Given the description of an element on the screen output the (x, y) to click on. 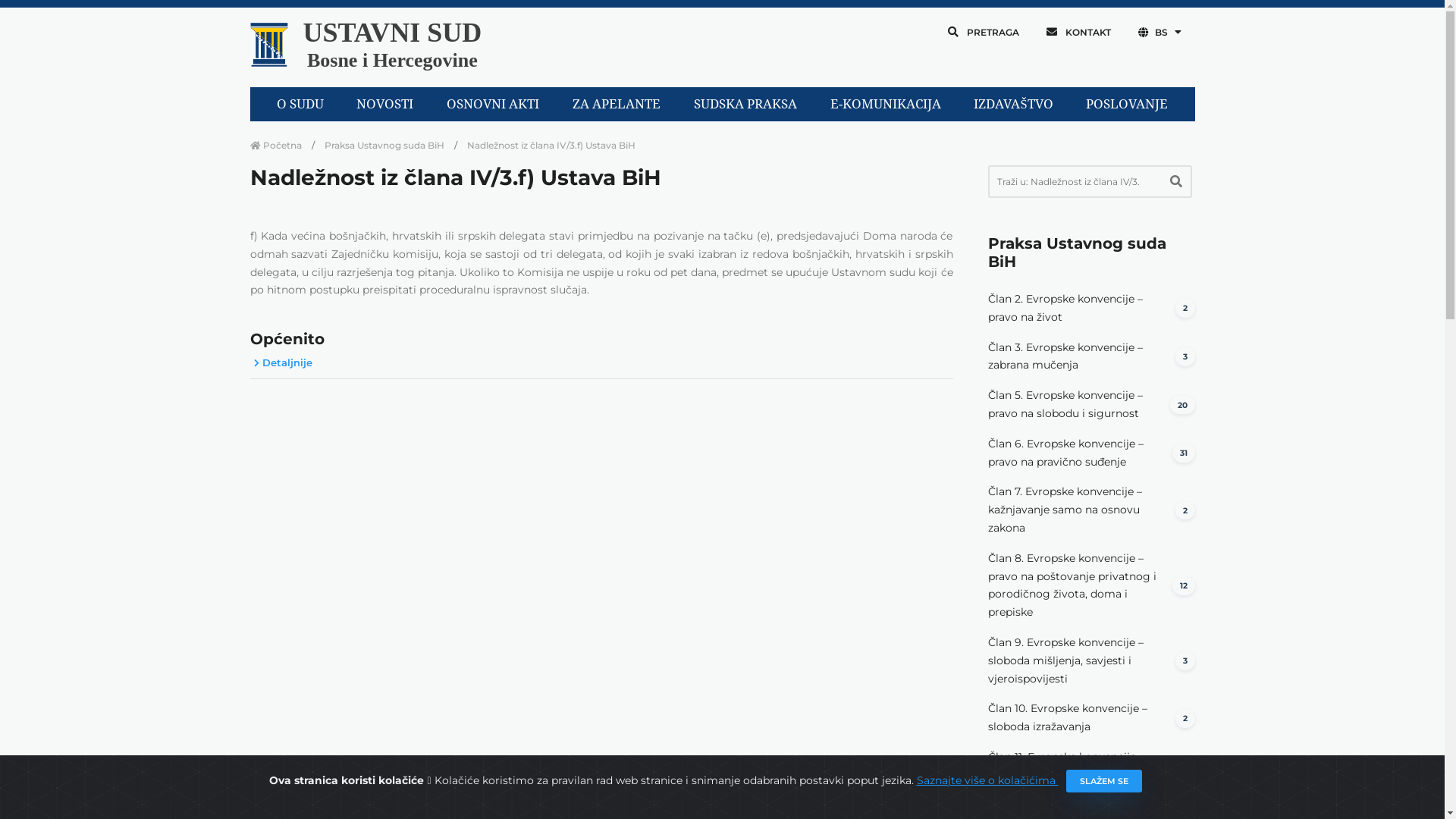
PRETRAGA Element type: text (983, 31)
OSNOVNI AKTI Element type: text (492, 104)
Detaljnije Element type: text (281, 362)
SUDSKA PRAKSA Element type: text (745, 104)
O SUDU Element type: text (299, 104)
E-KOMUNIKACIJA Element type: text (885, 104)
Praksa Ustavnog suda BiH Element type: text (384, 145)
KONTAKT Element type: text (1078, 31)
NOVOSTI Element type: text (384, 104)
BS Element type: text (1159, 31)
POSLOVANJE Element type: text (1126, 104)
USTAVNI SUD
Bosne i Hercegovine Element type: text (392, 47)
ZA APELANTE Element type: text (616, 104)
